Given the description of an element on the screen output the (x, y) to click on. 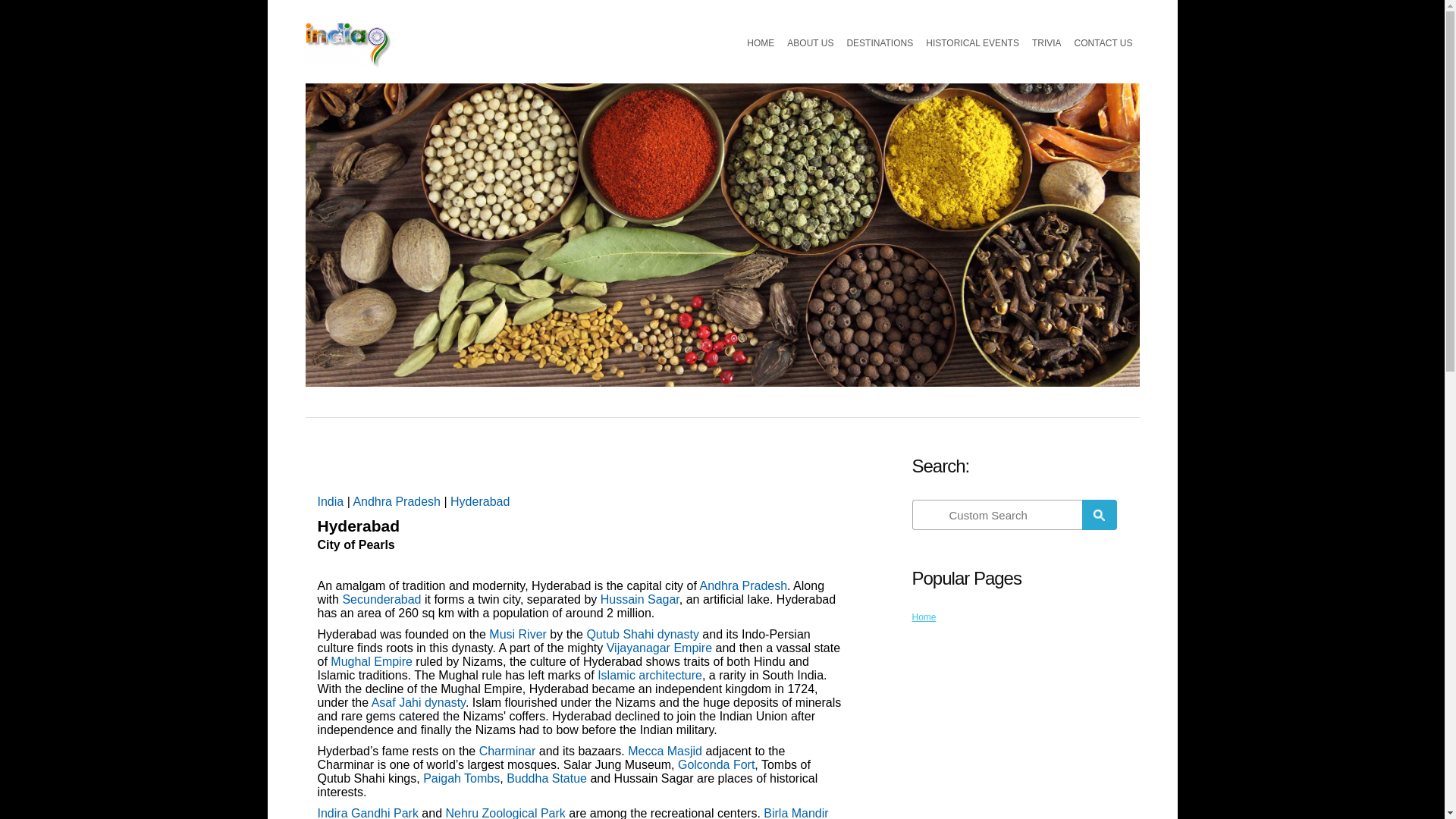
Andhra Pradesh (742, 585)
Mecca Masjid (664, 750)
Secunderabad (381, 599)
DESTINATIONS (879, 43)
CONTACT US (1103, 43)
Birla Mandir Temple (572, 812)
HOME (760, 43)
TRIVIA (1046, 43)
State (396, 501)
Islamic architecture (648, 675)
